Given the description of an element on the screen output the (x, y) to click on. 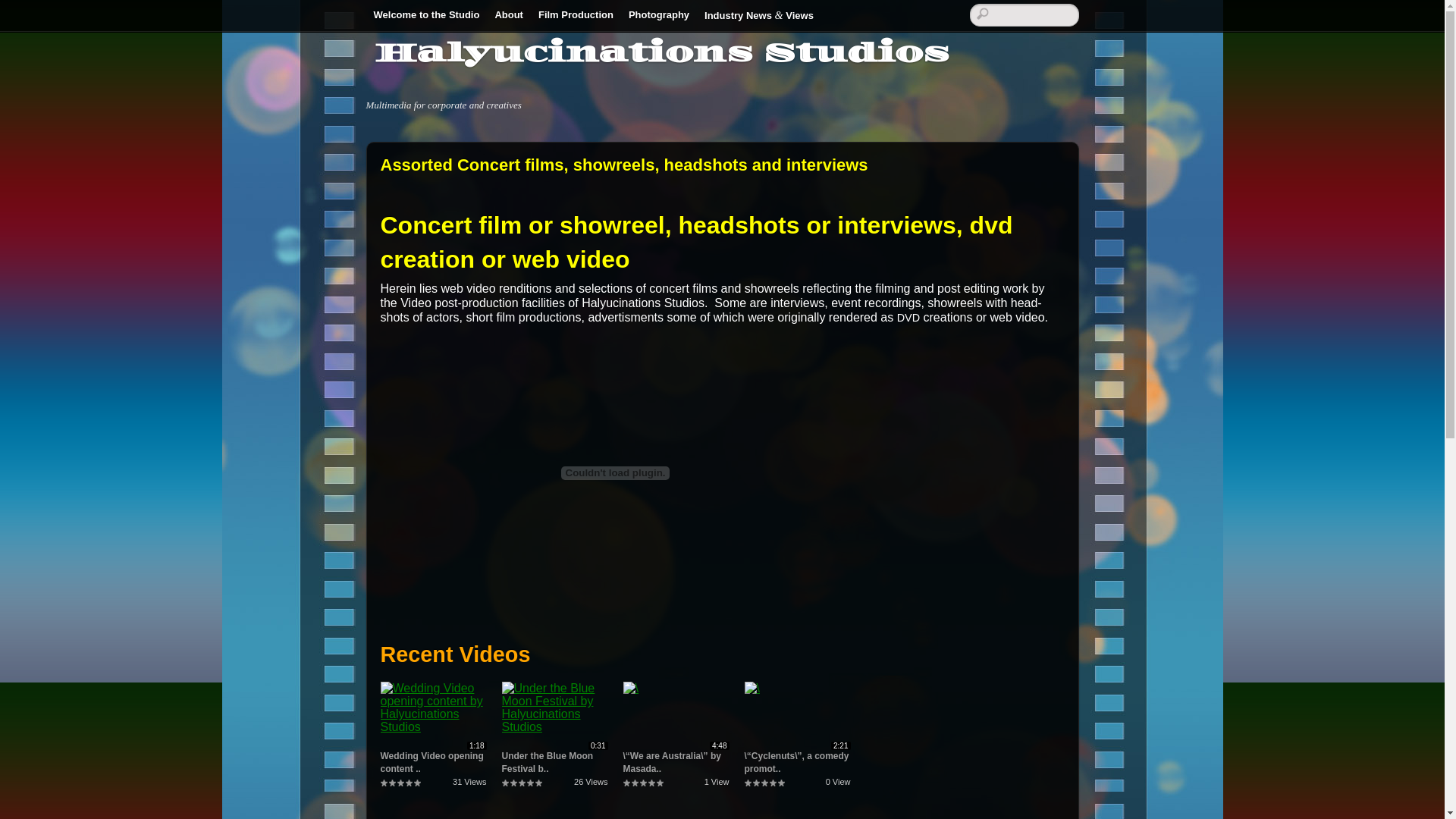
\ Element type: hover (751, 687)
Film Production Element type: text (575, 15)
Under the Blue Moon Festival by Halyucinations Studios Element type: hover (555, 707)
About Element type: text (508, 15)
Industry News & Views Element type: text (758, 15)
Welcome to the Studio Element type: text (425, 15)
Search Element type: hover (1023, 14)
Halyucinations Studios Element type: text (661, 53)
\ Element type: hover (630, 687)
Photography Element type: text (658, 15)
Wedding Video opening content by Halyucinations Studios Element type: hover (433, 707)
